Given the description of an element on the screen output the (x, y) to click on. 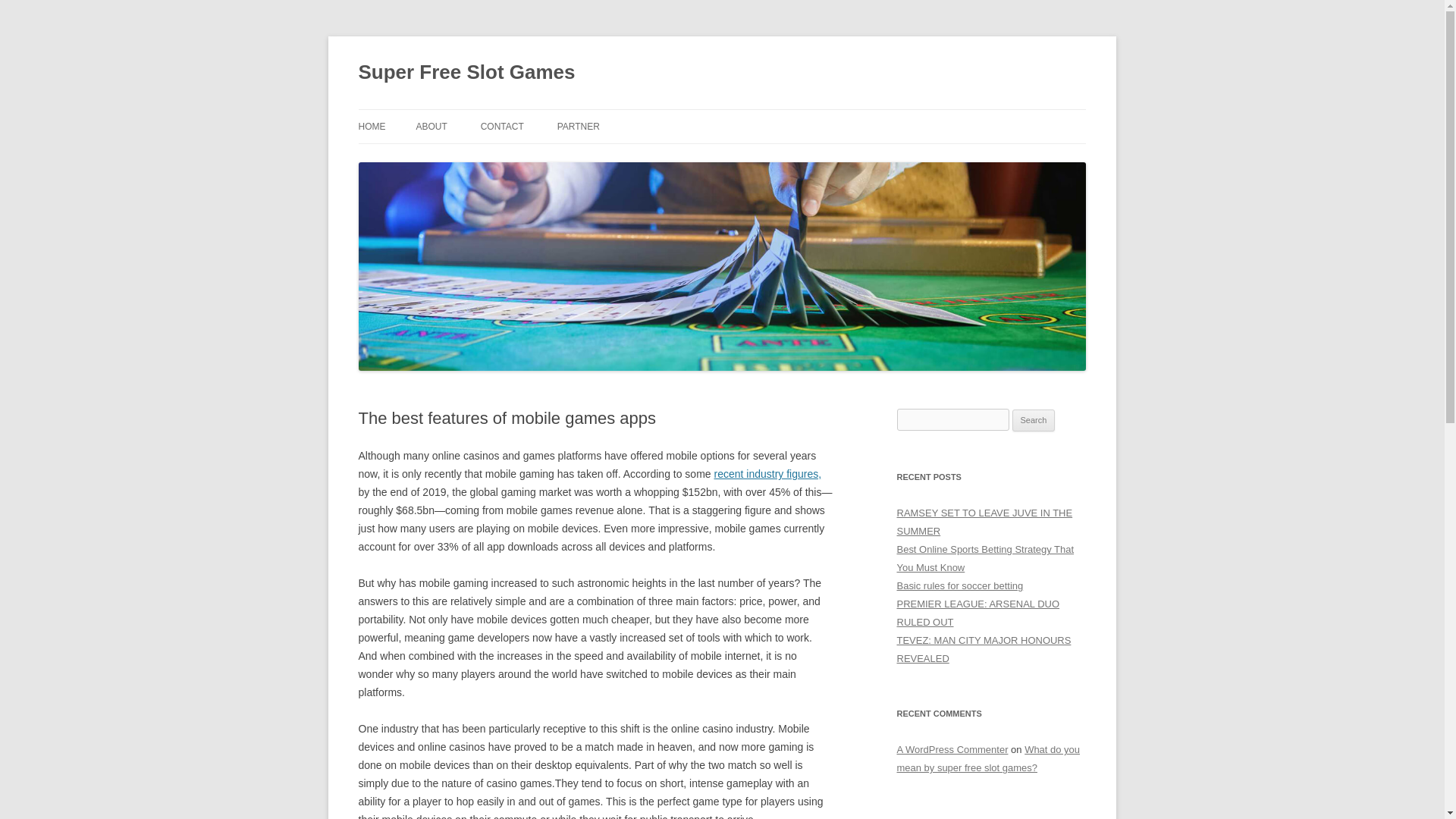
recent industry figures, (768, 473)
ABOUT (430, 126)
What do you mean by super free slot games? (988, 758)
Super Free Slot Games (466, 72)
Search (1033, 420)
RAMSEY SET TO LEAVE JUVE IN THE SUMMER (983, 521)
Search (1033, 420)
PARTNER (578, 126)
Basic rules for soccer betting (959, 585)
A WordPress Commenter (951, 749)
Best Online Sports Betting Strategy That You Must Know (985, 558)
TEVEZ: MAN CITY MAJOR HONOURS REVEALED (983, 649)
PREMIER LEAGUE: ARSENAL DUO RULED OUT (977, 613)
CONTACT (502, 126)
